Given the description of an element on the screen output the (x, y) to click on. 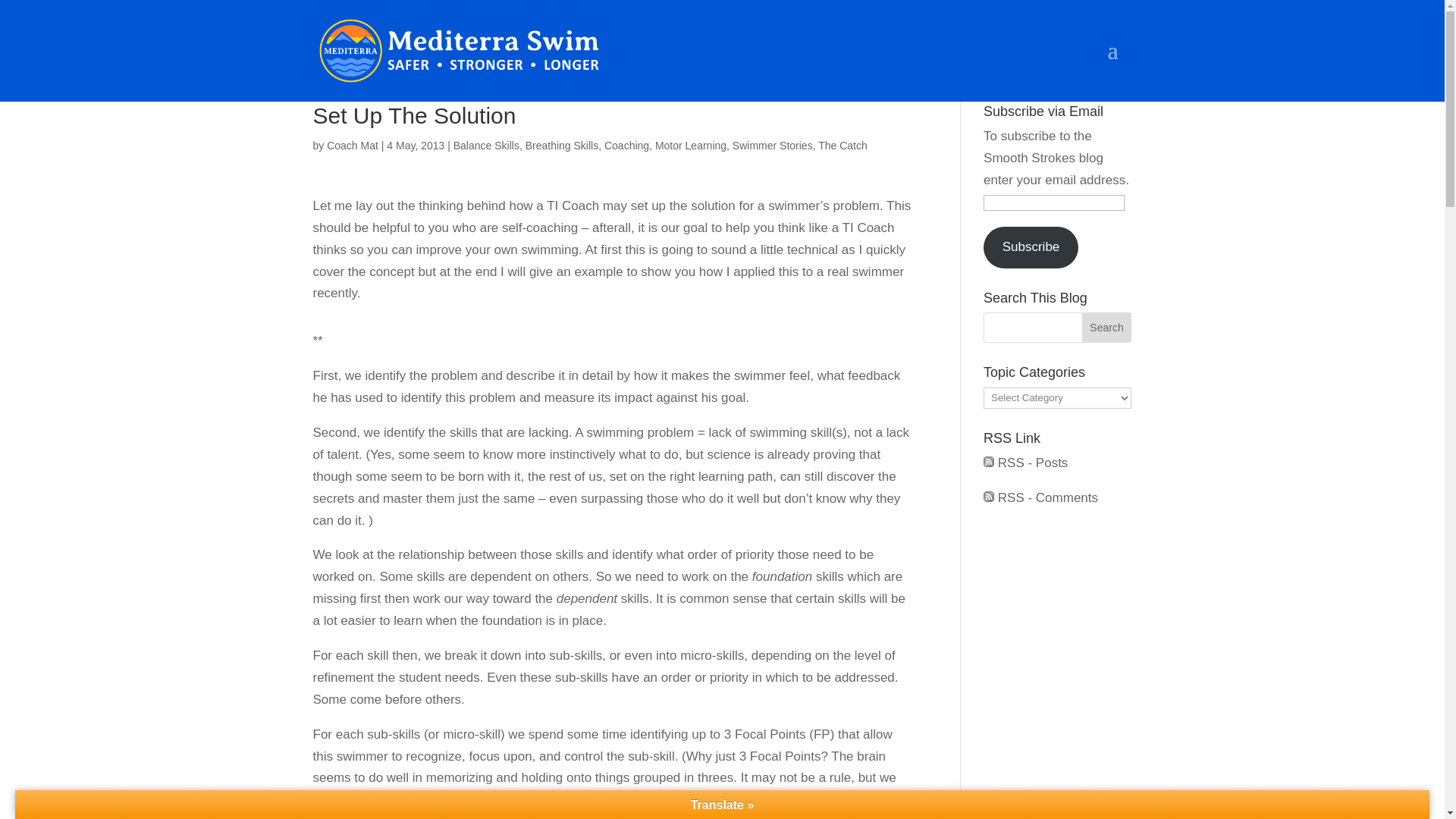
The Catch (842, 145)
Subscribe to posts (1025, 462)
Coach Mat (352, 145)
Breathing Skills (561, 145)
Subscribe (1031, 247)
Subscribe to comments (1040, 497)
Search (1106, 327)
 RSS - Posts (1025, 462)
Balance Skills (485, 145)
Posts by Coach Mat (352, 145)
Coaching (626, 145)
 RSS - Comments (1040, 497)
Swimmer Stories (772, 145)
Search (1106, 327)
Motor Learning (690, 145)
